Given the description of an element on the screen output the (x, y) to click on. 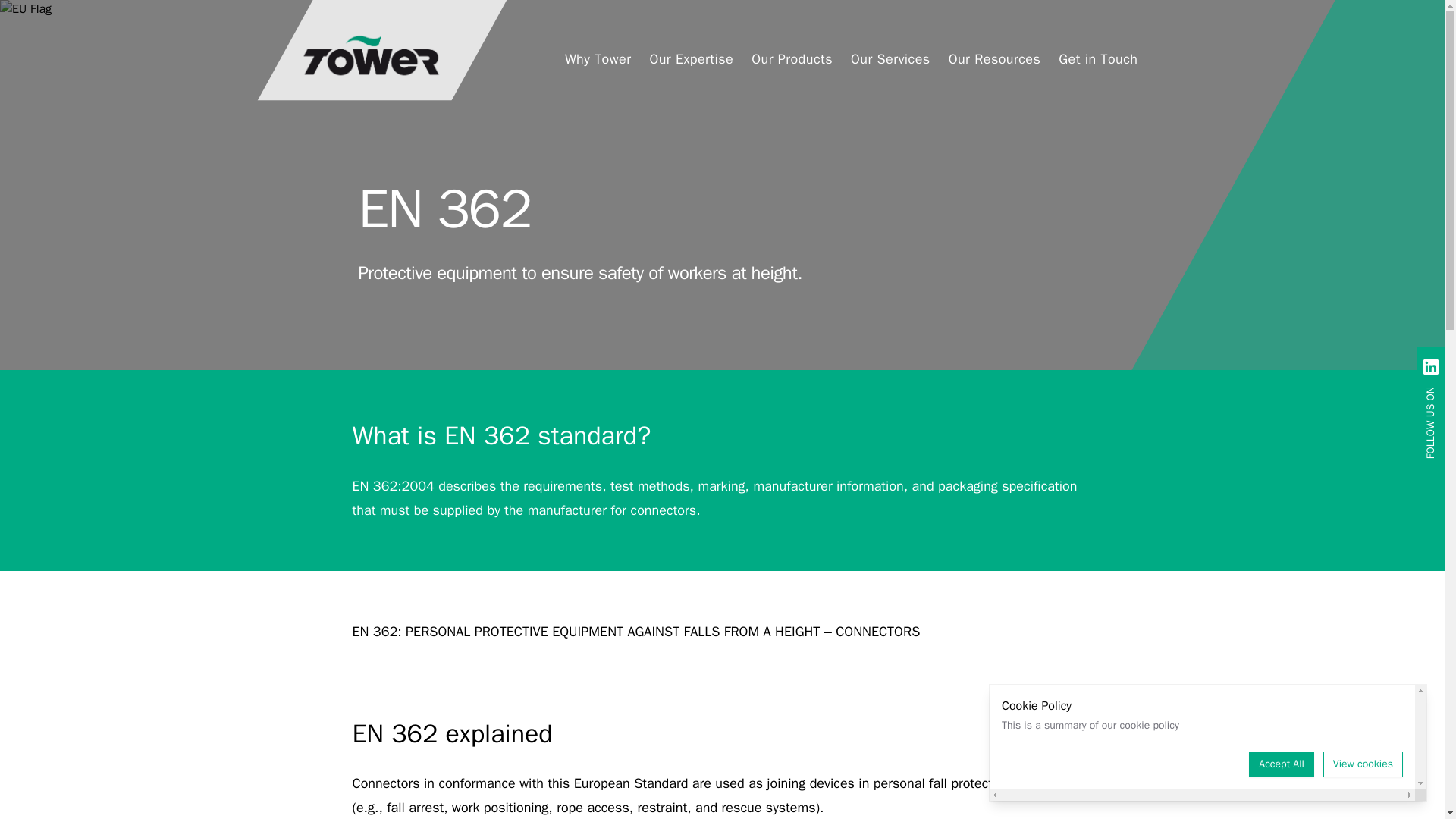
Why Tower (598, 55)
Tower Supplies (369, 55)
View cookies (1363, 764)
Our Products (791, 55)
Accept All (1281, 764)
Our Expertise (691, 55)
